Given the description of an element on the screen output the (x, y) to click on. 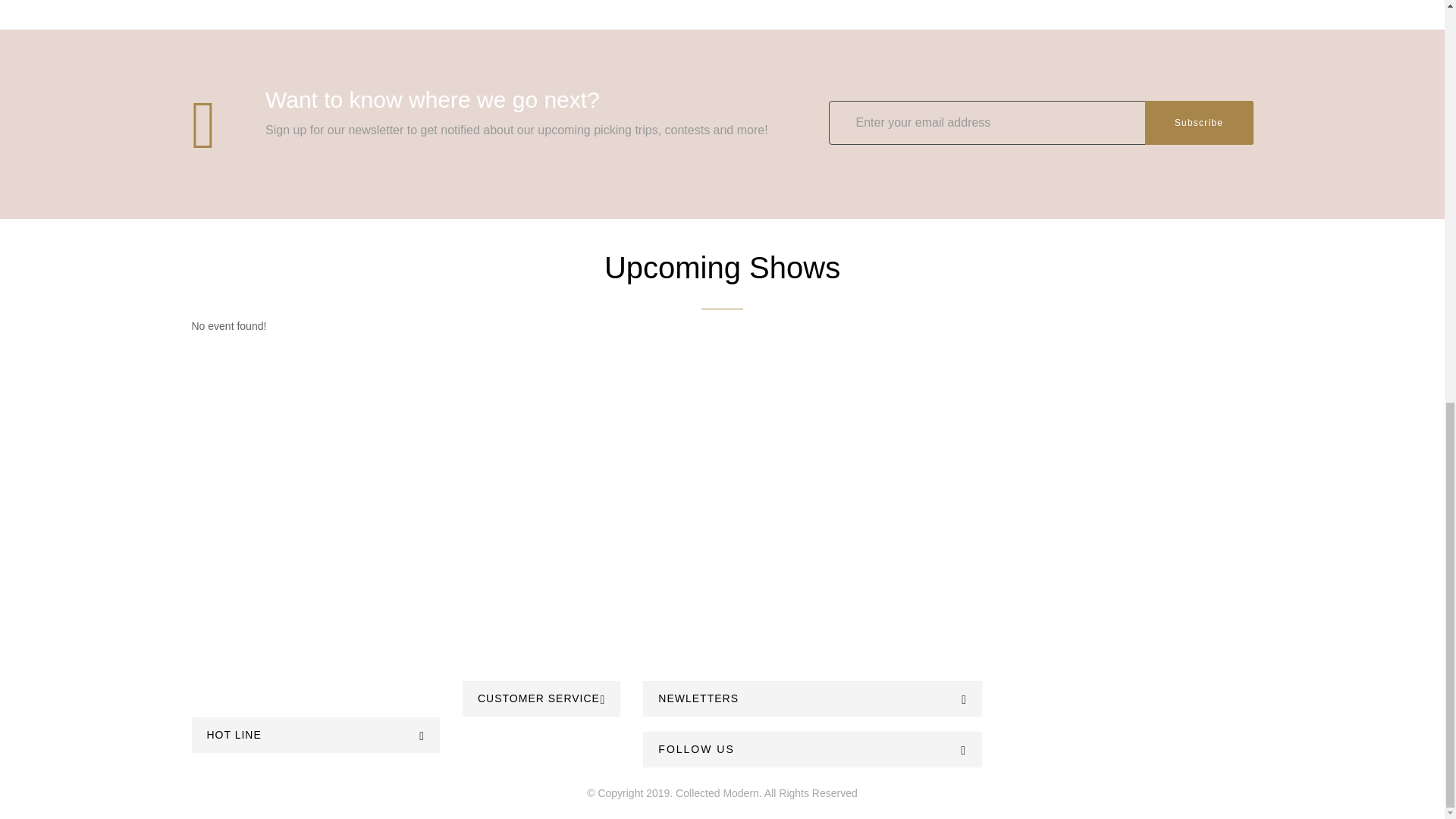
SHOP NOW (722, 577)
Subscribe (1198, 122)
